Given the description of an element on the screen output the (x, y) to click on. 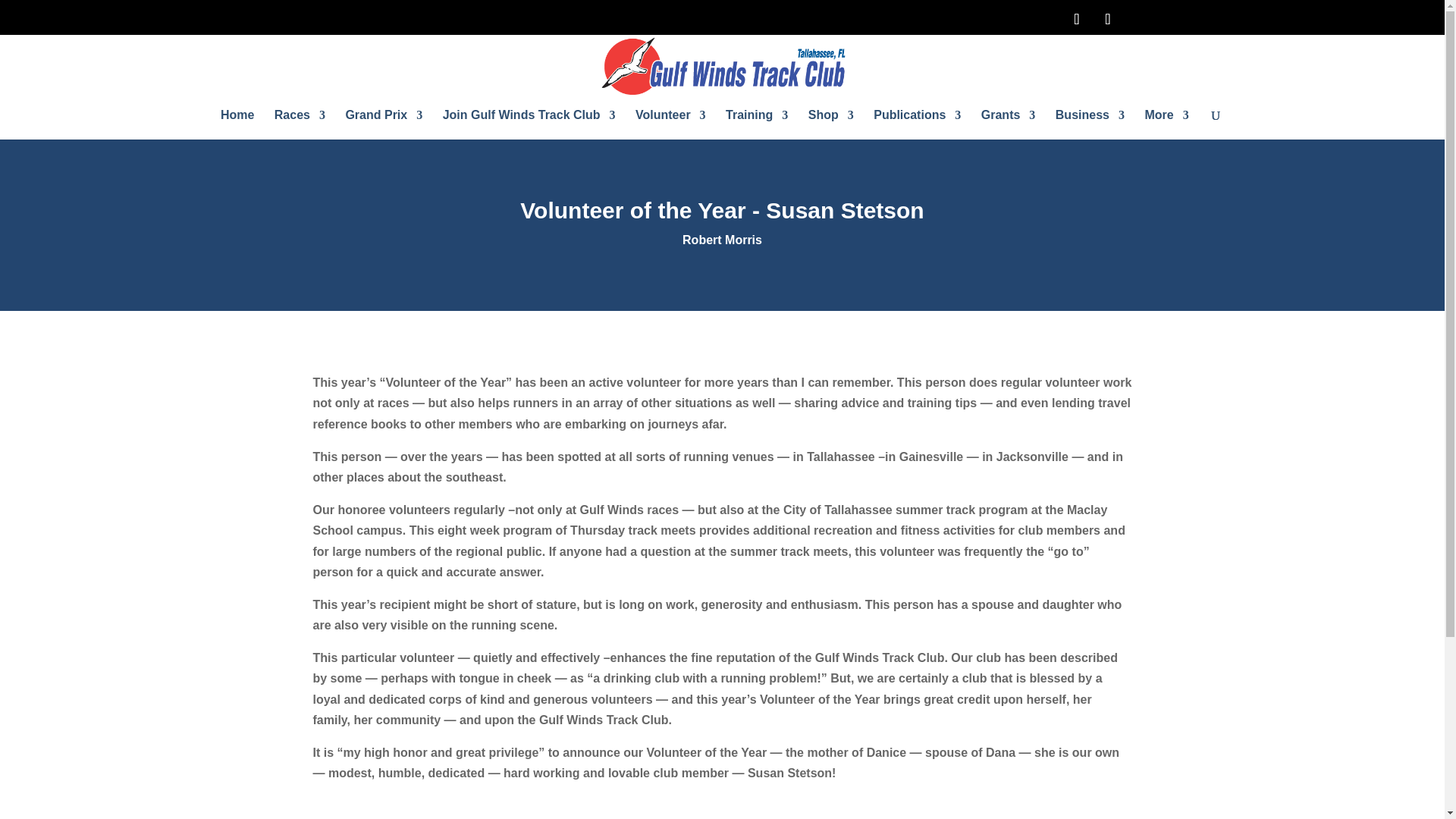
Publications (916, 119)
Training (756, 119)
Home (237, 119)
Grand Prix (383, 119)
Shop (830, 119)
Volunteer (670, 119)
Join Gulf Winds Track Club (528, 119)
Races (299, 119)
